Given the description of an element on the screen output the (x, y) to click on. 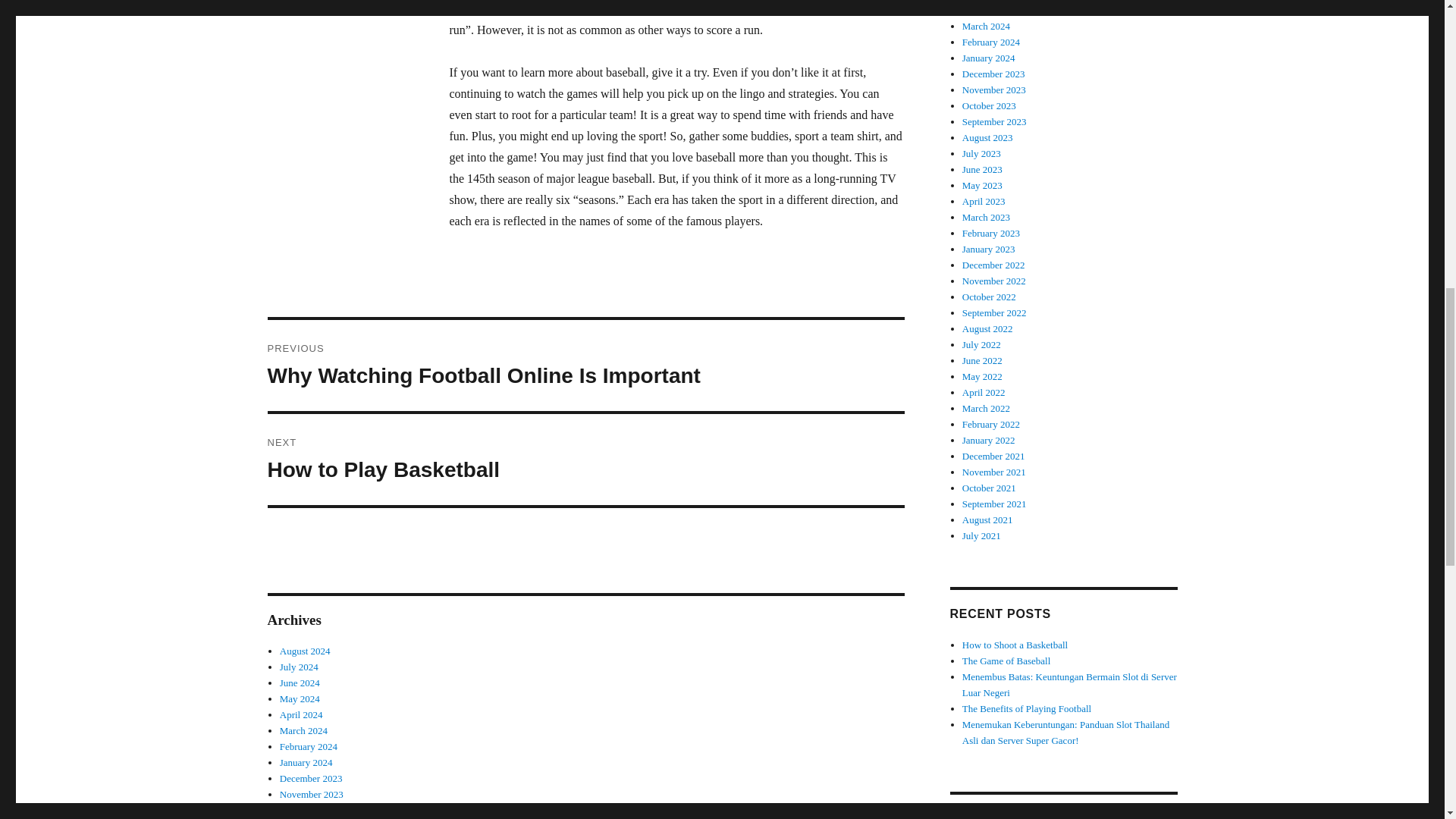
June 2024 (299, 682)
April 2024 (301, 714)
July 2024 (298, 666)
November 2023 (311, 794)
August 2024 (304, 650)
December 2023 (310, 778)
January 2024 (306, 762)
March 2024 (585, 459)
May 2024 (303, 730)
February 2024 (299, 698)
October 2023 (308, 746)
